Given the description of an element on the screen output the (x, y) to click on. 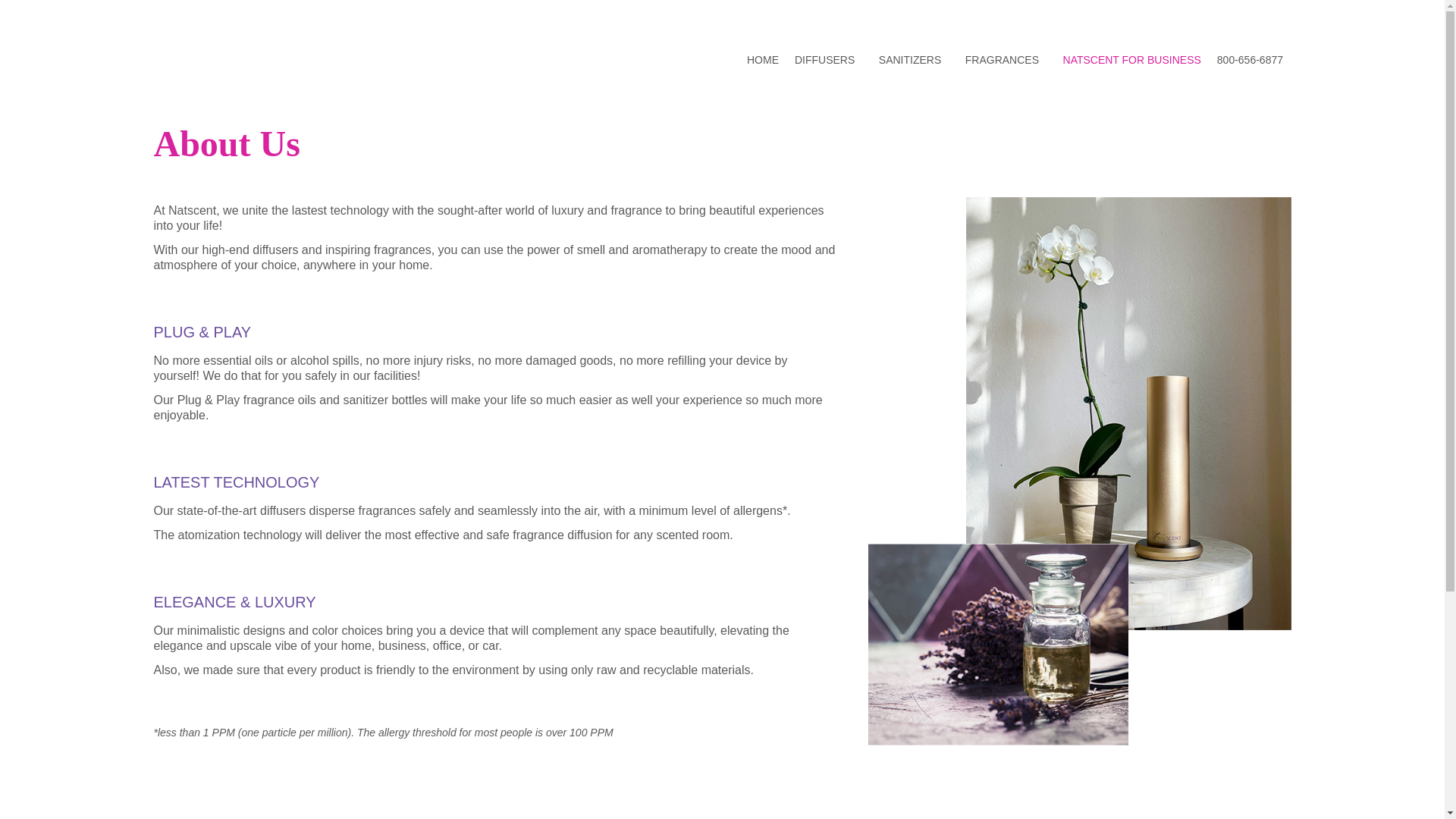
DIFFUSERS (823, 59)
HOME (762, 59)
FRAGRANCES (1001, 59)
NATSCENT FOR BUSINESS (1131, 59)
800-656-6877 (1249, 59)
SANITIZERS (909, 59)
